Given the description of an element on the screen output the (x, y) to click on. 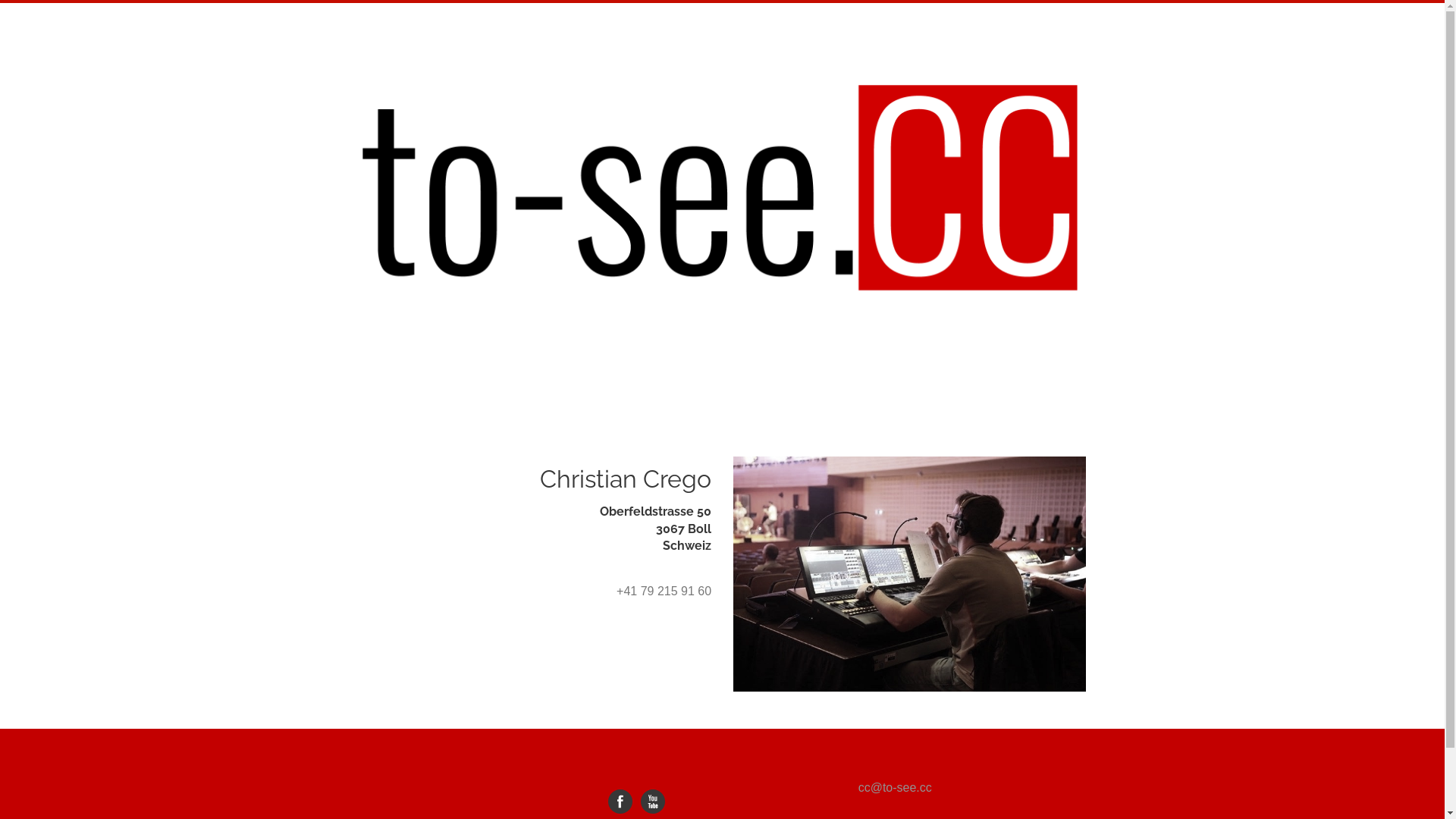
Facebook Element type: text (620, 801)
Youtube Element type: text (652, 801)
cc@to-see.cc Element type: text (894, 787)
